Given the description of an element on the screen output the (x, y) to click on. 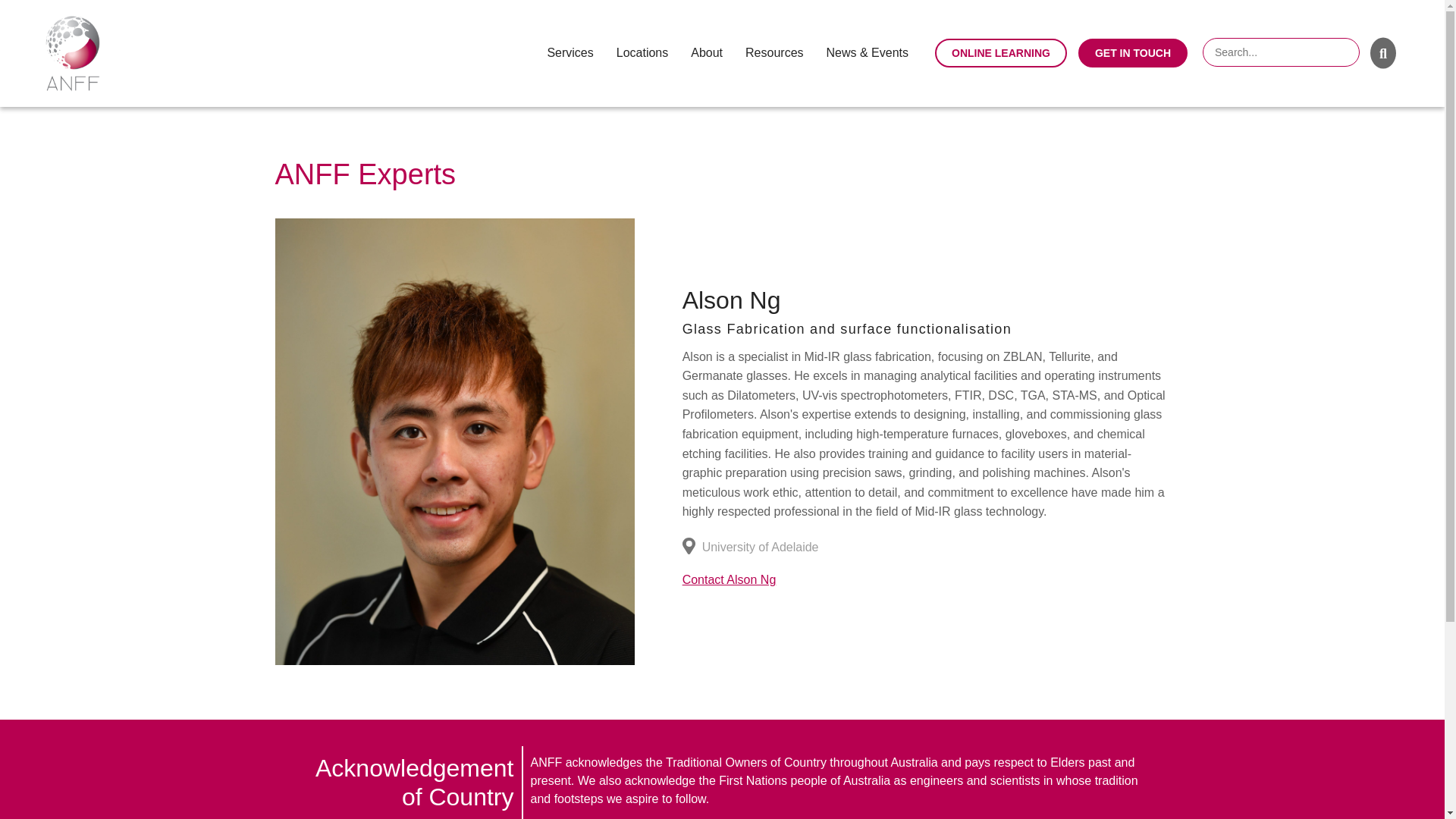
About (706, 52)
ONLINE LEARNING (1000, 52)
GET IN TOUCH (1133, 52)
Locations (641, 52)
Services (569, 52)
Resources (774, 52)
